Given the description of an element on the screen output the (x, y) to click on. 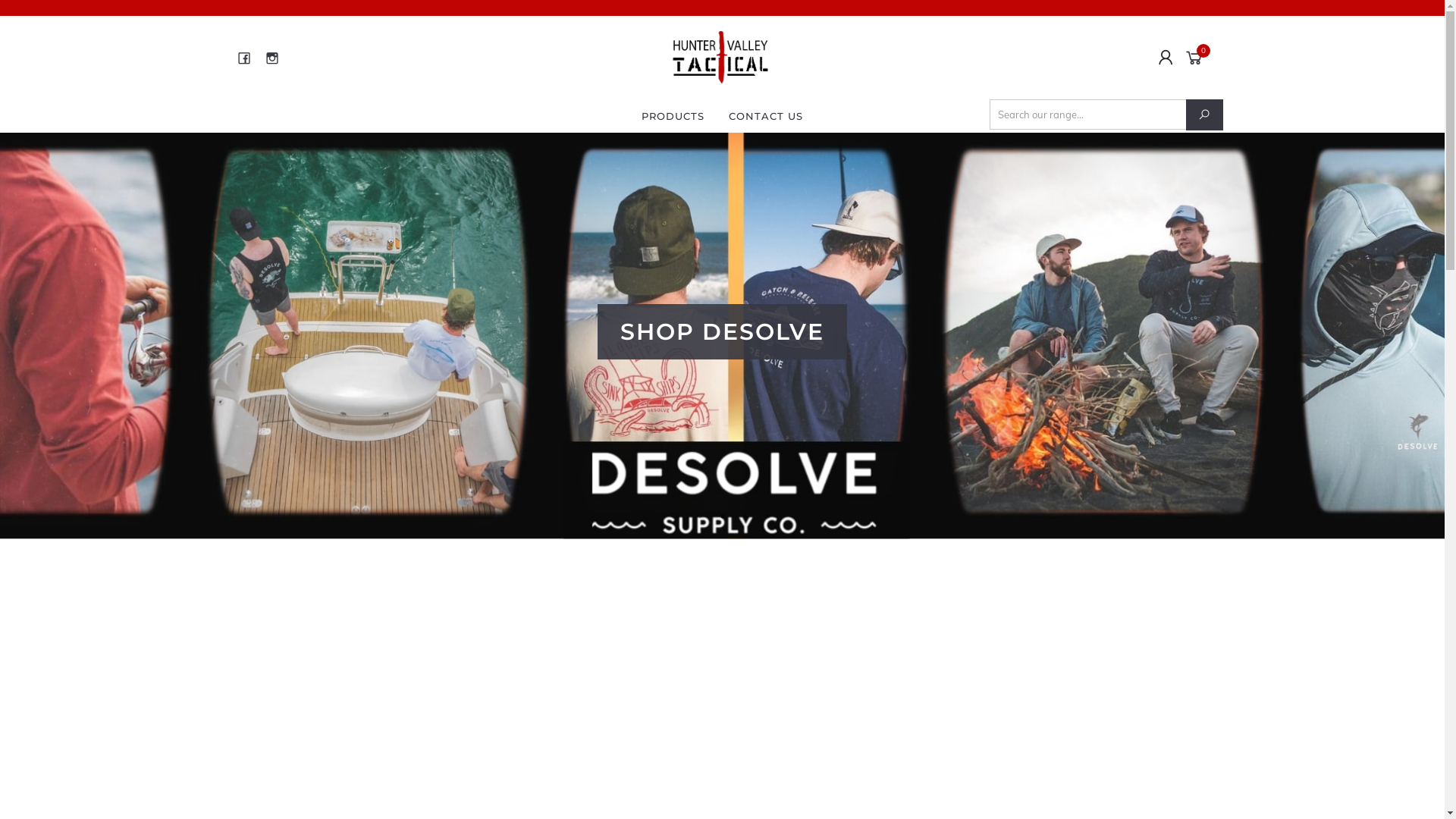
1 Element type: text (676, 516)
PRODUCTS Element type: text (672, 115)
4 Element type: text (744, 516)
0 Element type: text (1196, 56)
CONTACT US Element type: text (765, 115)
Search Element type: text (1204, 114)
Huntervalleytactical Element type: hover (720, 56)
3 Element type: text (721, 516)
5 Element type: text (767, 516)
SHOP DESOLVE Element type: text (722, 335)
2 Element type: text (698, 516)
